Given the description of an element on the screen output the (x, y) to click on. 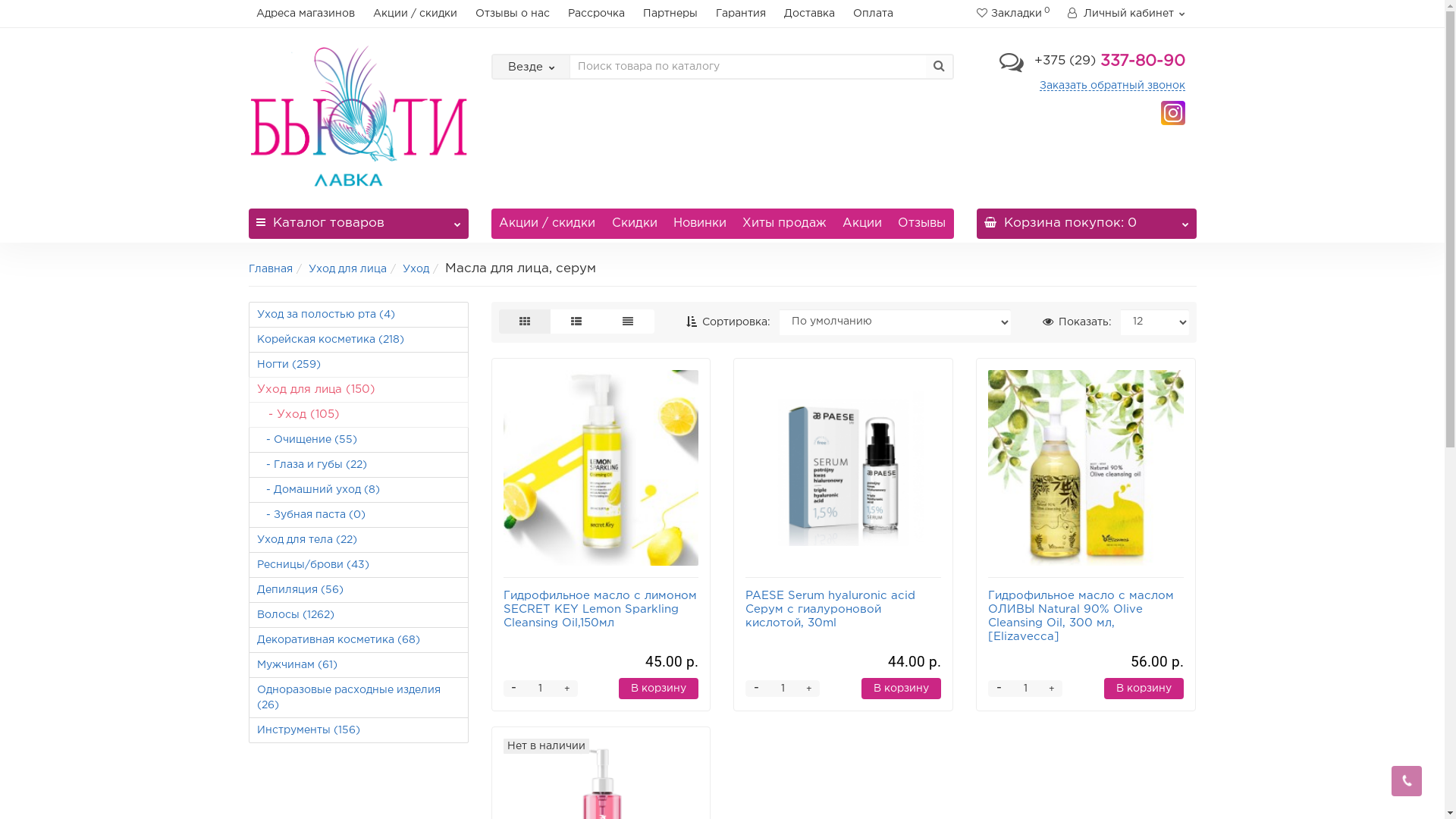
+ Element type: text (566, 688)
+ Element type: text (809, 688)
+375 (29) 337-80-90 Element type: text (1109, 61)
- Element type: text (513, 688)
- Element type: text (998, 688)
- Element type: text (755, 688)
+ Element type: text (1051, 688)
